Given the description of an element on the screen output the (x, y) to click on. 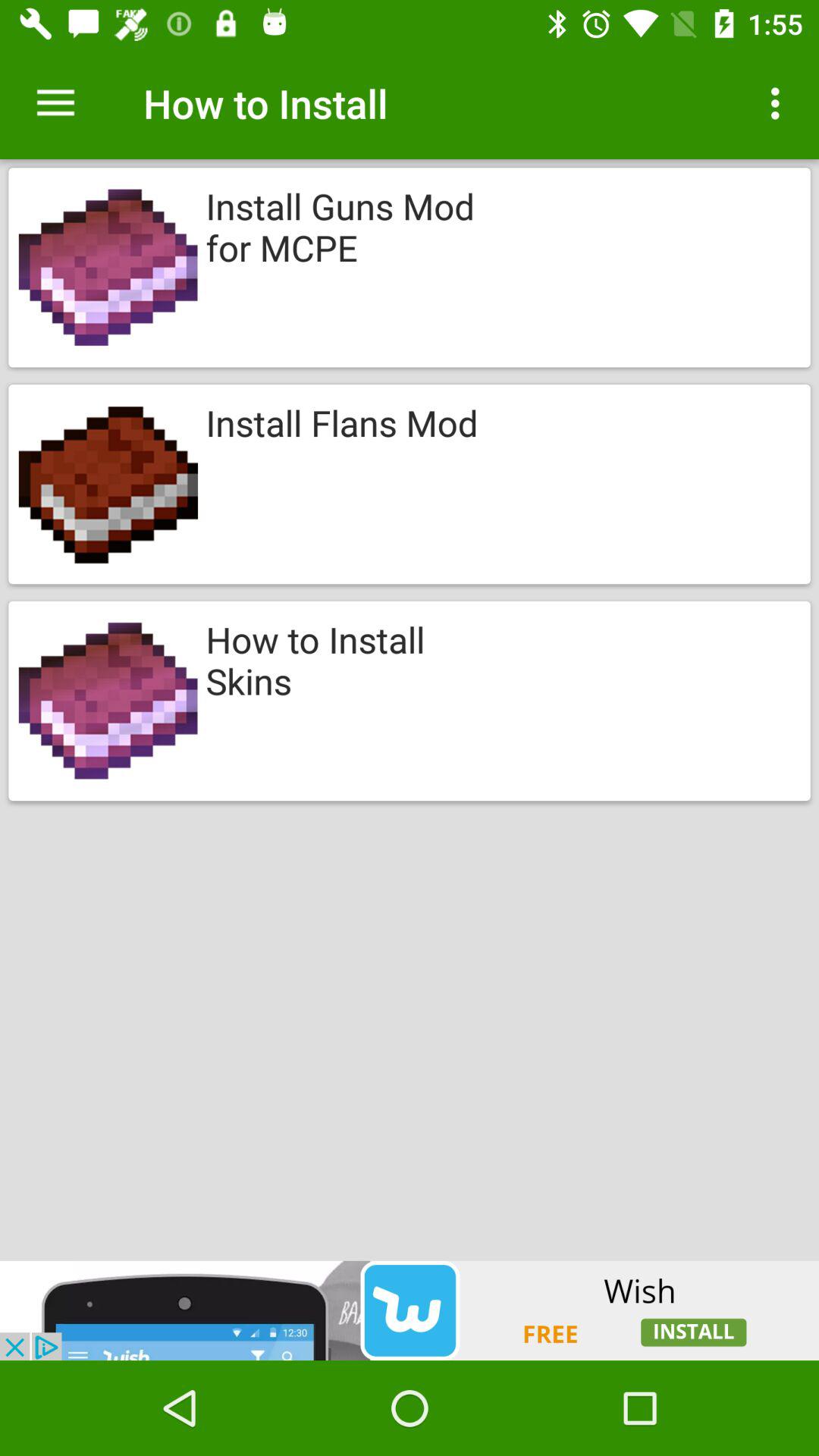
choose the first image below how to install (409, 267)
select the second category in how to install (409, 484)
go to three dots on top right of page (779, 103)
tap on the second image below to how to install (108, 483)
select the first image from top (108, 266)
